Given the description of an element on the screen output the (x, y) to click on. 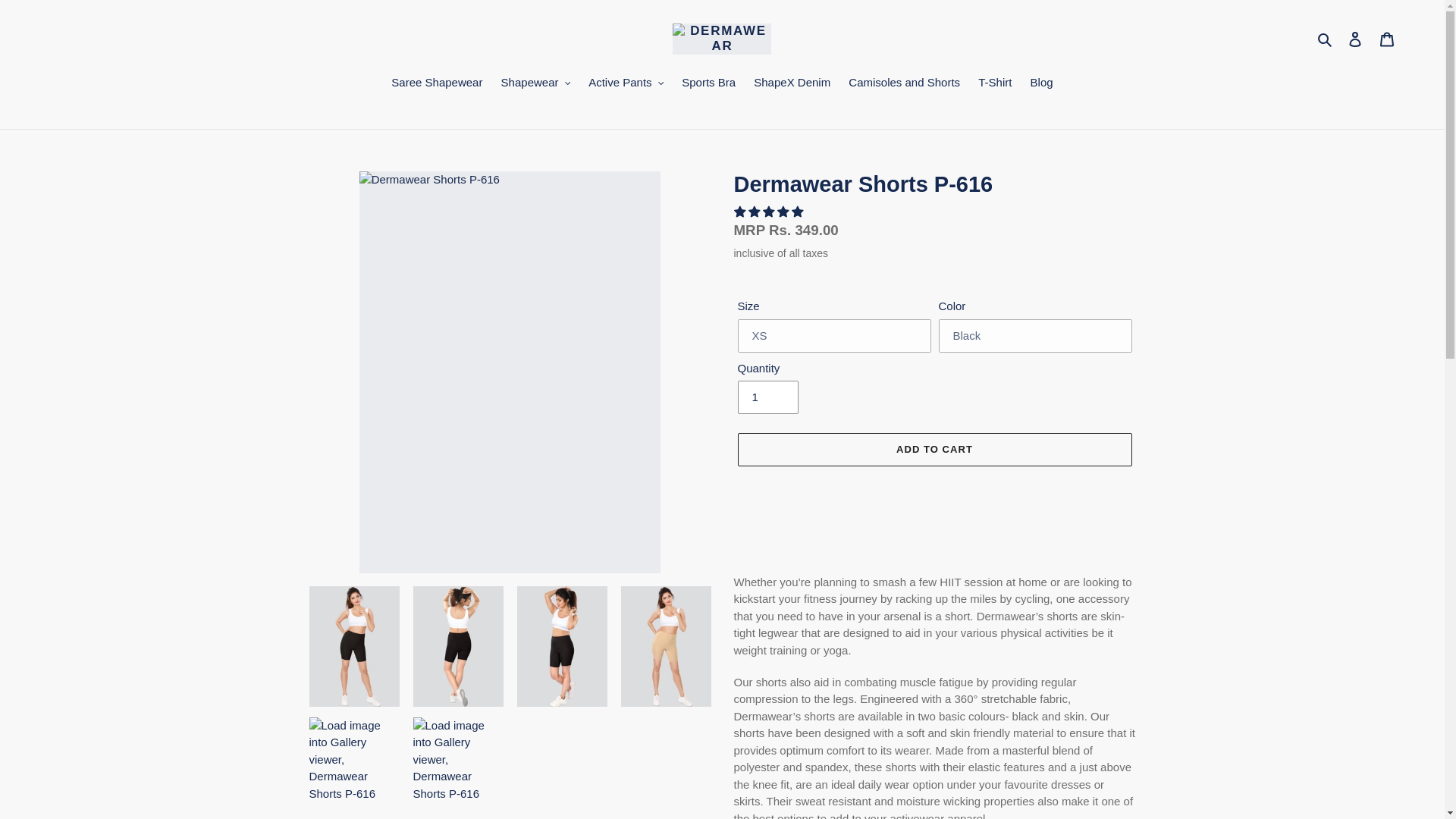
Cart (1387, 38)
ShapeX Denim (791, 84)
T-Shirt (995, 84)
1 (766, 397)
Active Pants (625, 84)
Search (1326, 38)
Sports Bra (708, 84)
Saree Shapewear (436, 84)
Log in (1355, 38)
Shapewear (535, 84)
